Given the description of an element on the screen output the (x, y) to click on. 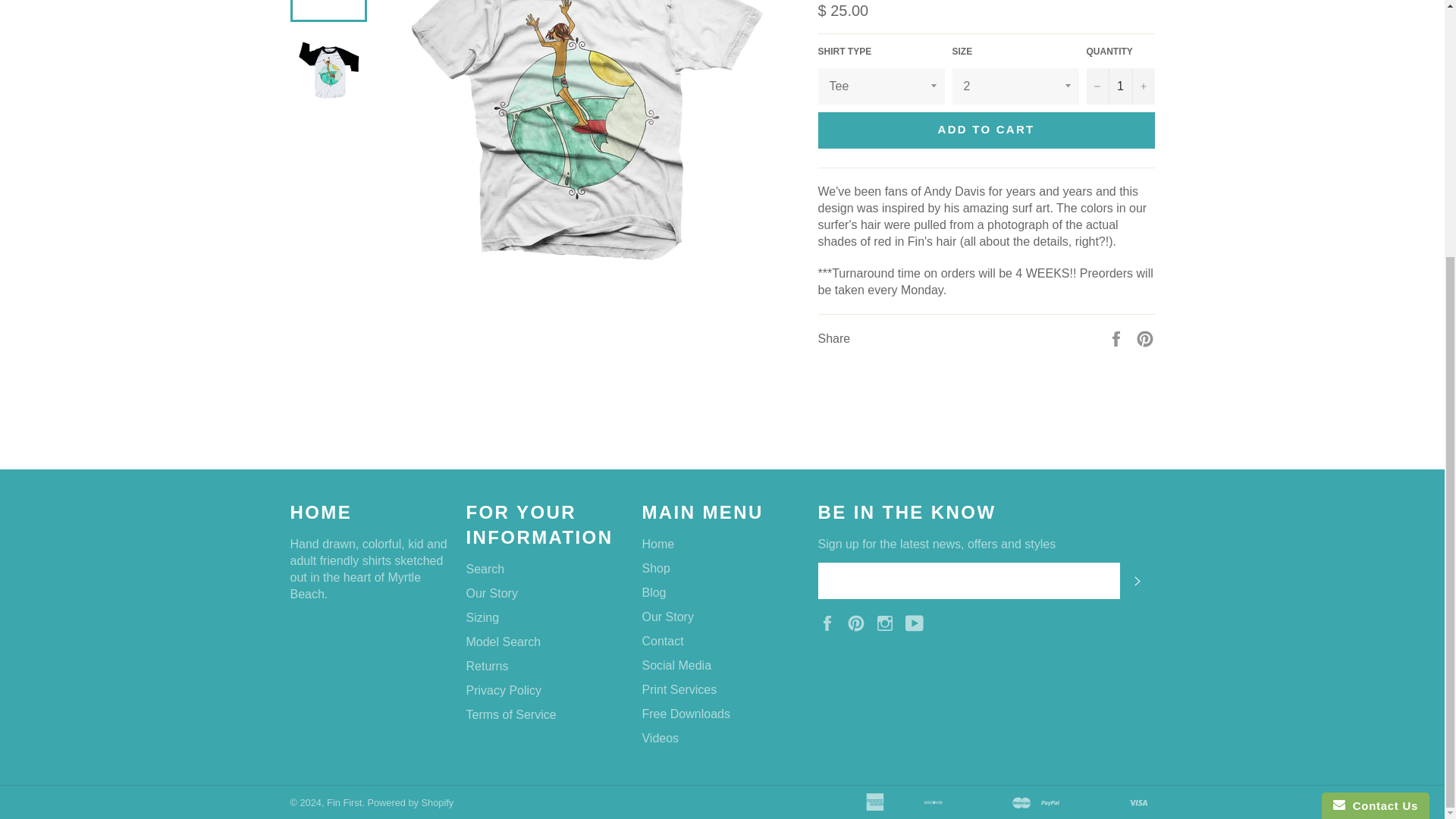
Fin First on YouTube (918, 621)
Fin First on Pinterest (859, 621)
Fin First on Instagram (888, 621)
1 (1120, 85)
Fin First on Facebook (829, 621)
